Given the description of an element on the screen output the (x, y) to click on. 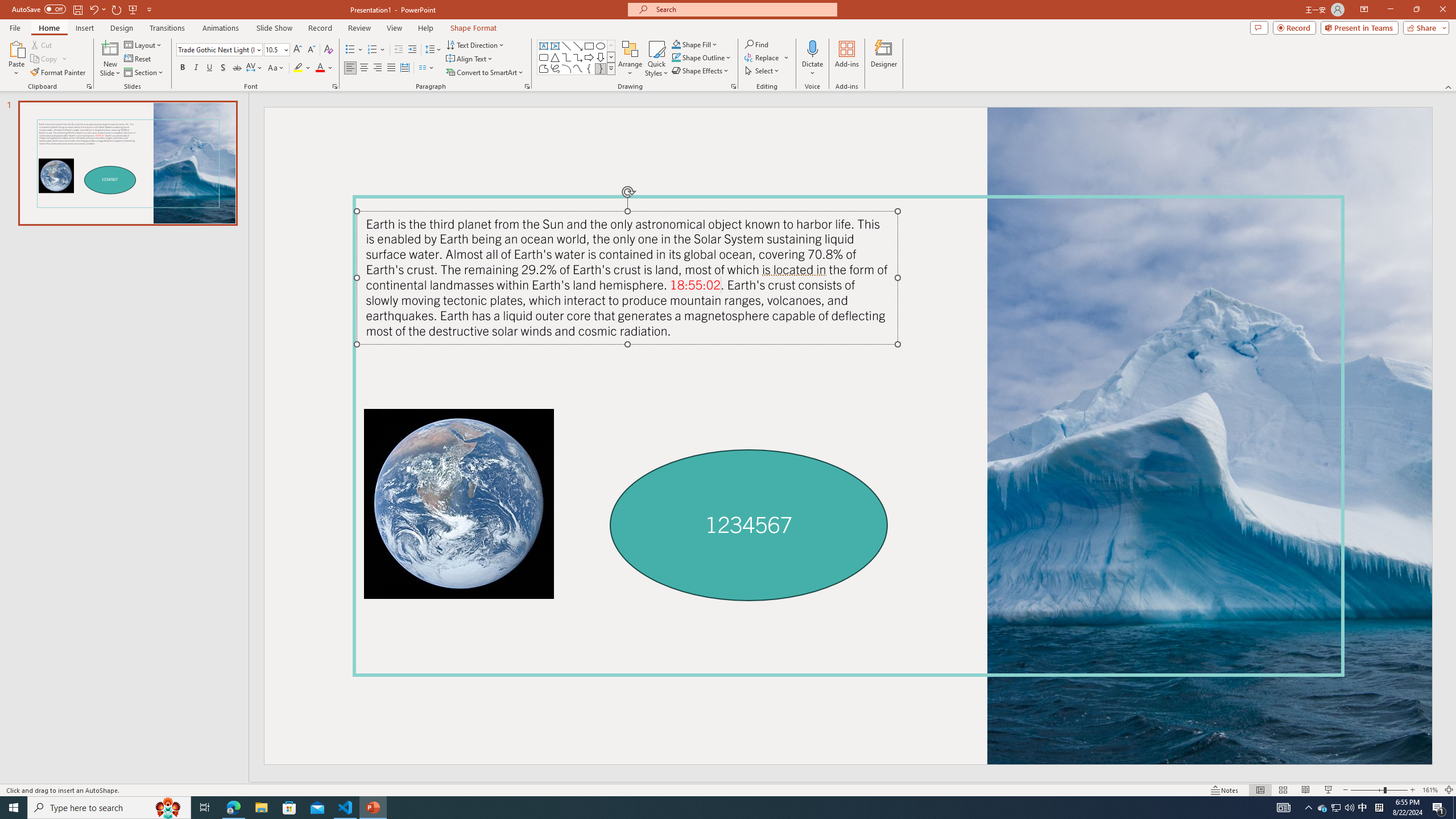
Shape Outline Teal, Accent 1 (675, 56)
